Given the description of an element on the screen output the (x, y) to click on. 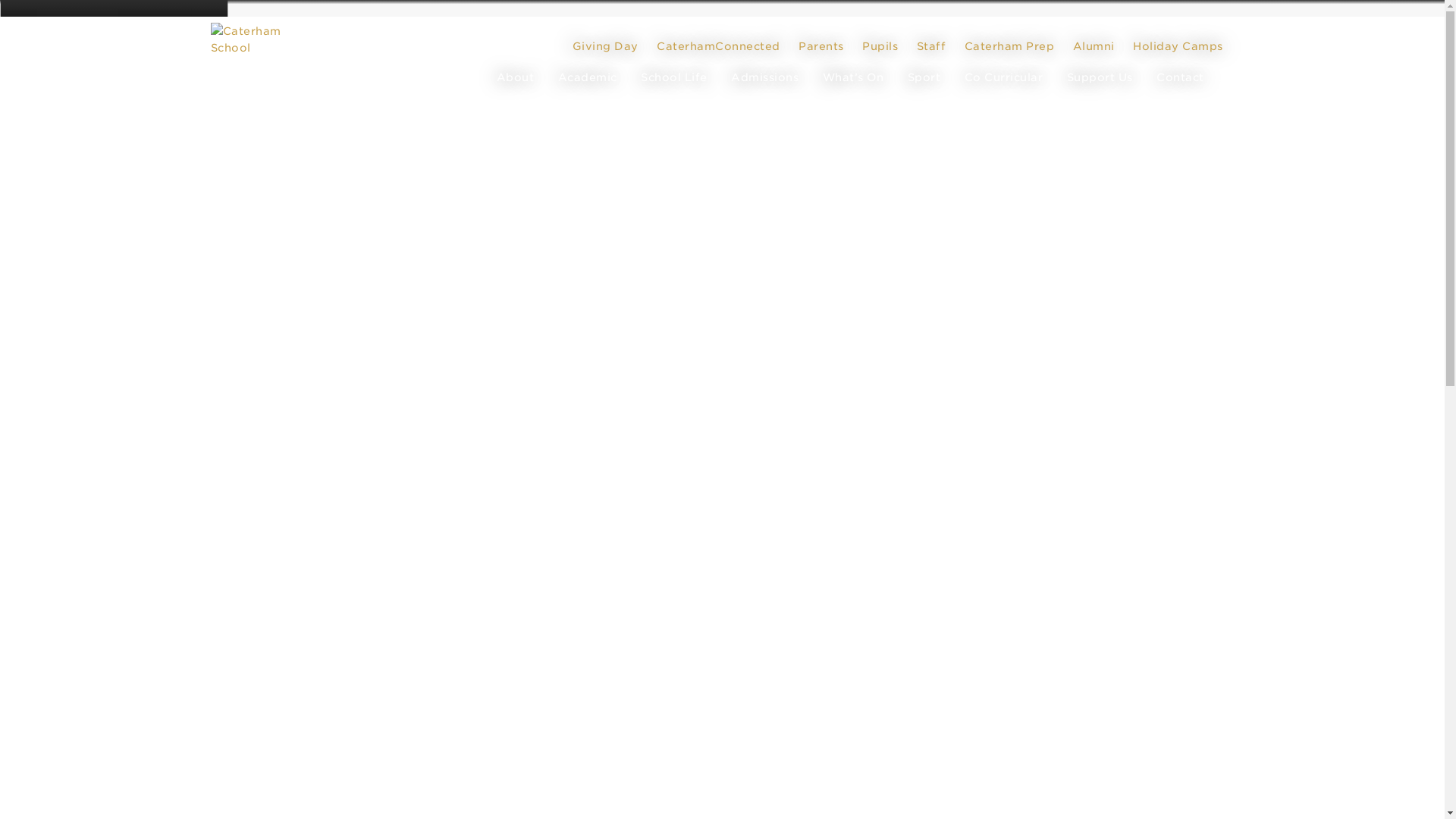
Academic (587, 77)
Alumni (1092, 46)
Pupils (879, 46)
Parents (820, 46)
Admissions (763, 77)
CaterhamConnected (718, 46)
Co Curricular (1003, 77)
Contact (1180, 77)
Staff (929, 46)
Support Us (1099, 77)
